Given the description of an element on the screen output the (x, y) to click on. 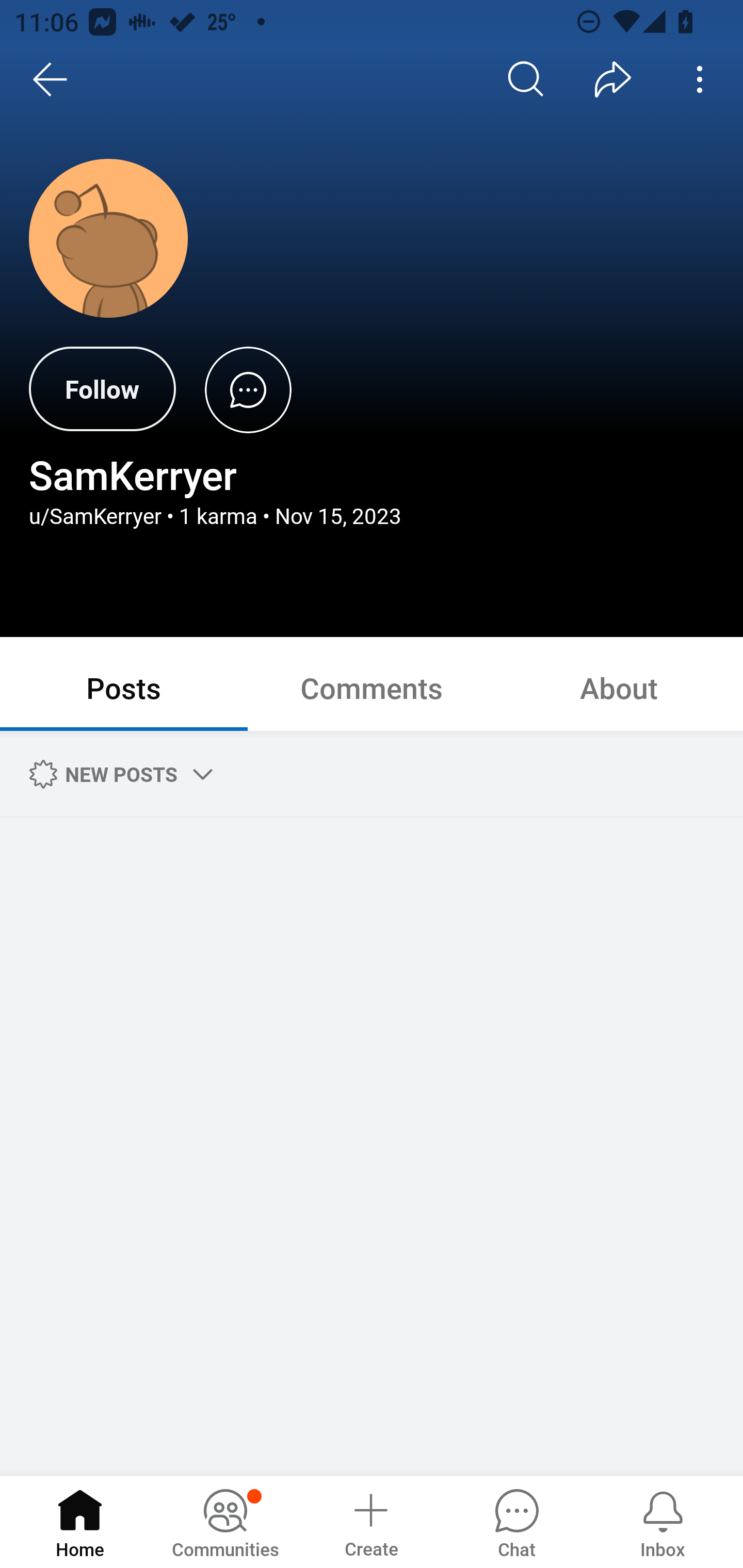
Back (50, 79)
Search profile (525, 79)
Share SamKerryer profile (612, 79)
More profile actions (699, 79)
User Avatar (107, 238)
Follow (102, 388)
Send message (248, 389)
Comments (371, 687)
About (619, 687)
NEW POSTS Sort by New posts (117, 773)
Home (80, 1520)
Communities, has notifications Communities (225, 1520)
Create a post Create (370, 1520)
Chat (516, 1520)
Inbox (662, 1520)
